Given the description of an element on the screen output the (x, y) to click on. 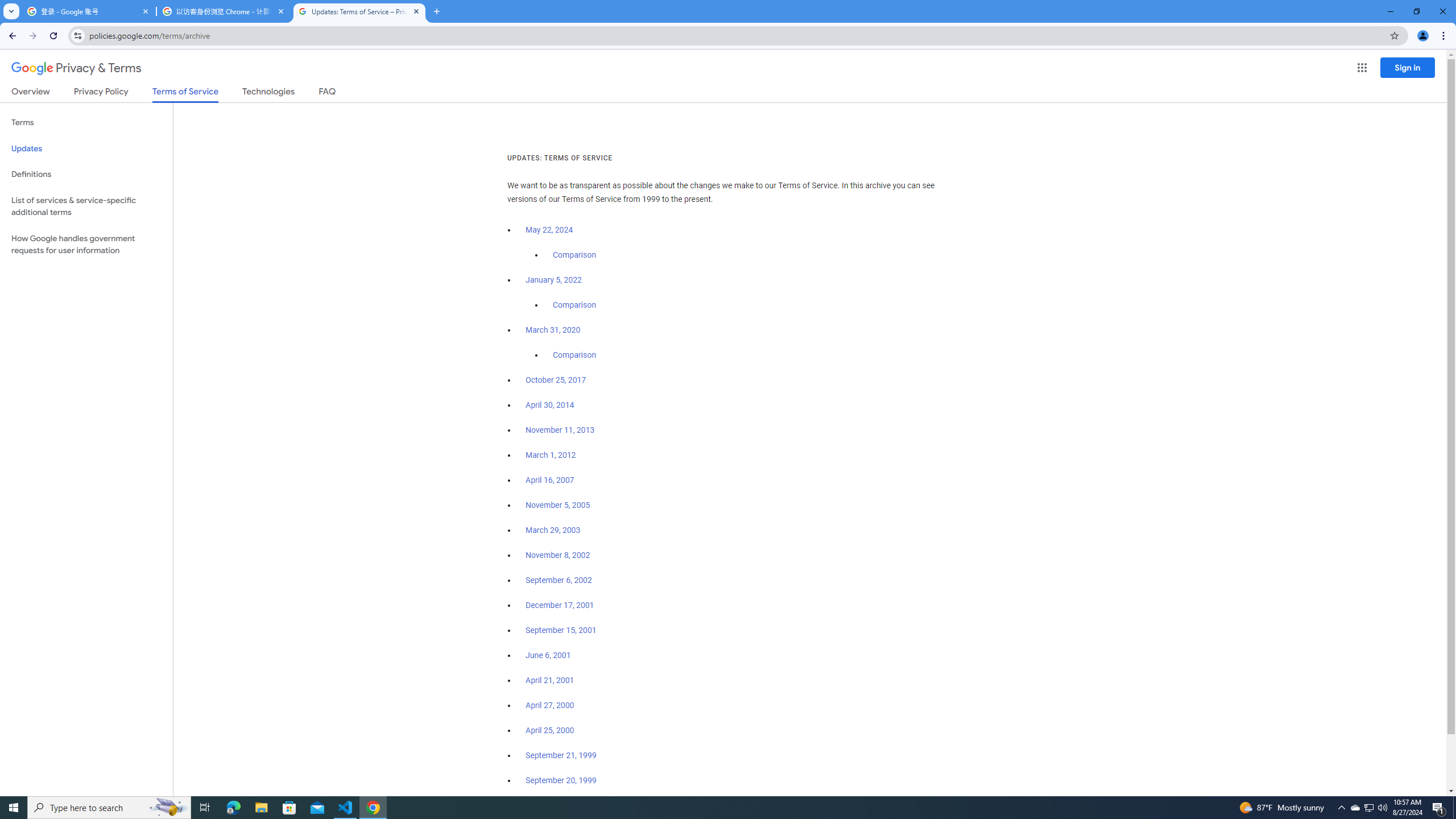
January 5, 2022 (553, 280)
June 6, 2001 (547, 655)
March 1, 2012 (550, 455)
